Given the description of an element on the screen output the (x, y) to click on. 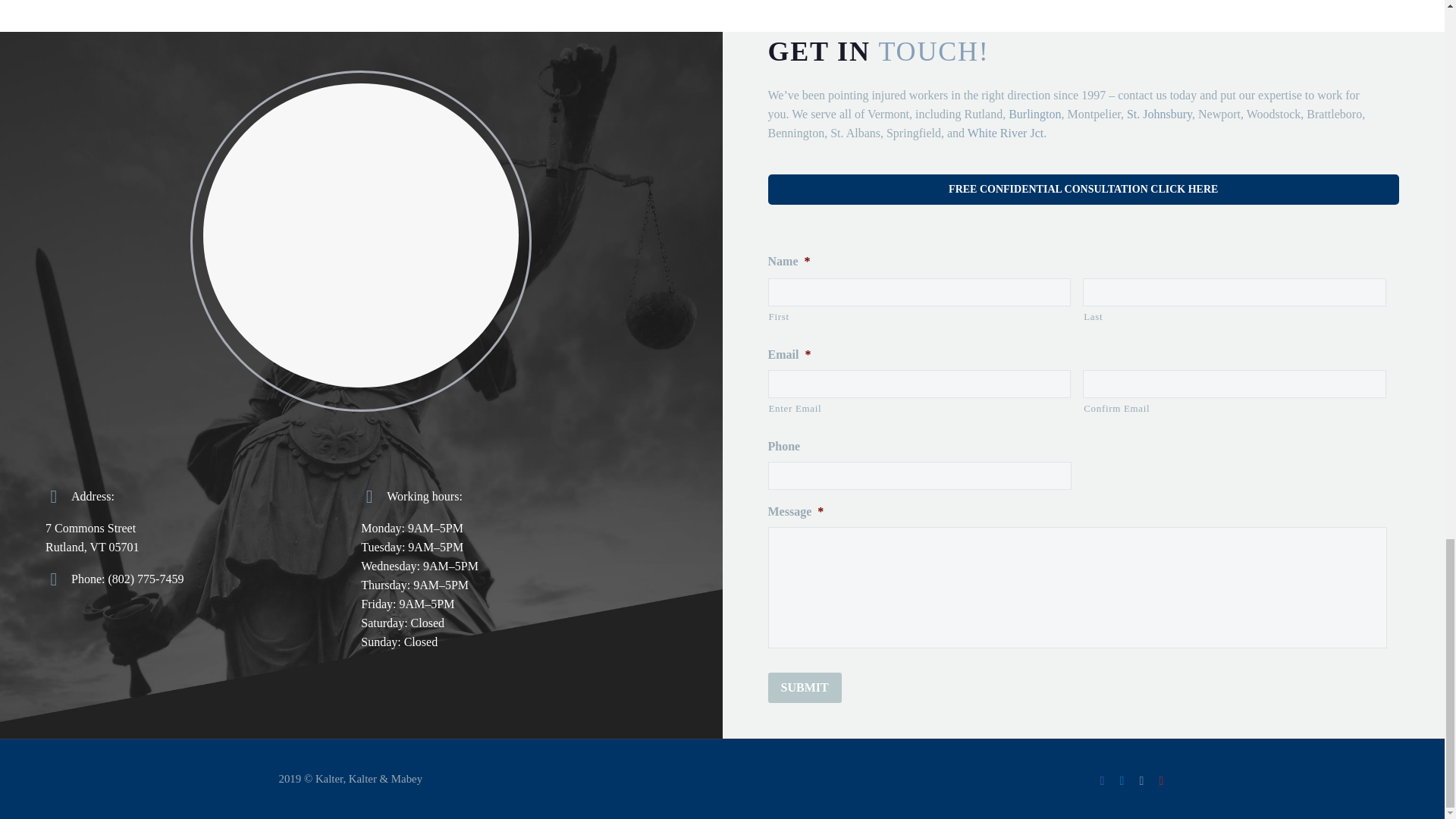
Submit (804, 687)
